Given the description of an element on the screen output the (x, y) to click on. 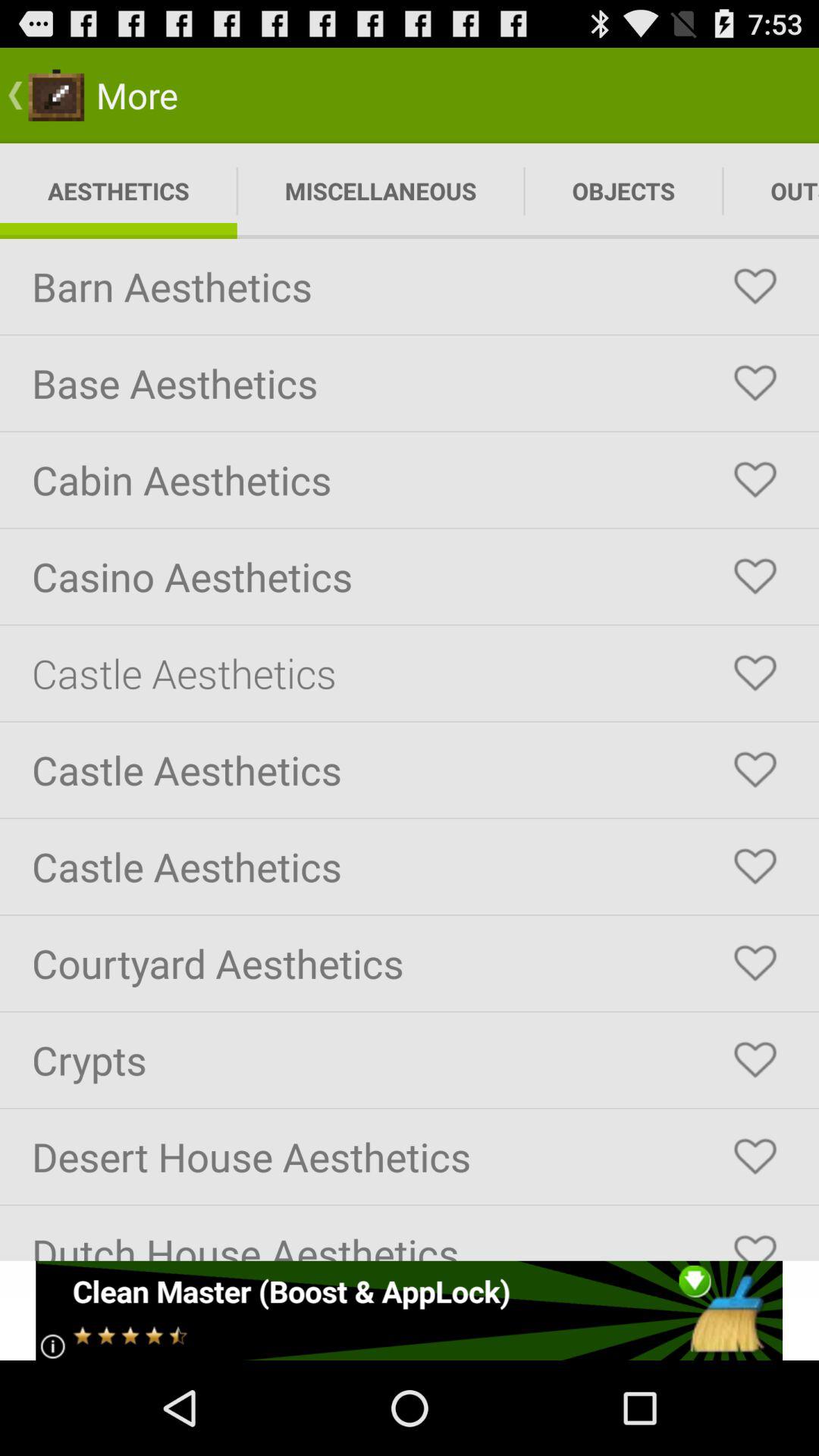
dutch houseaesthetics (755, 1240)
